Given the description of an element on the screen output the (x, y) to click on. 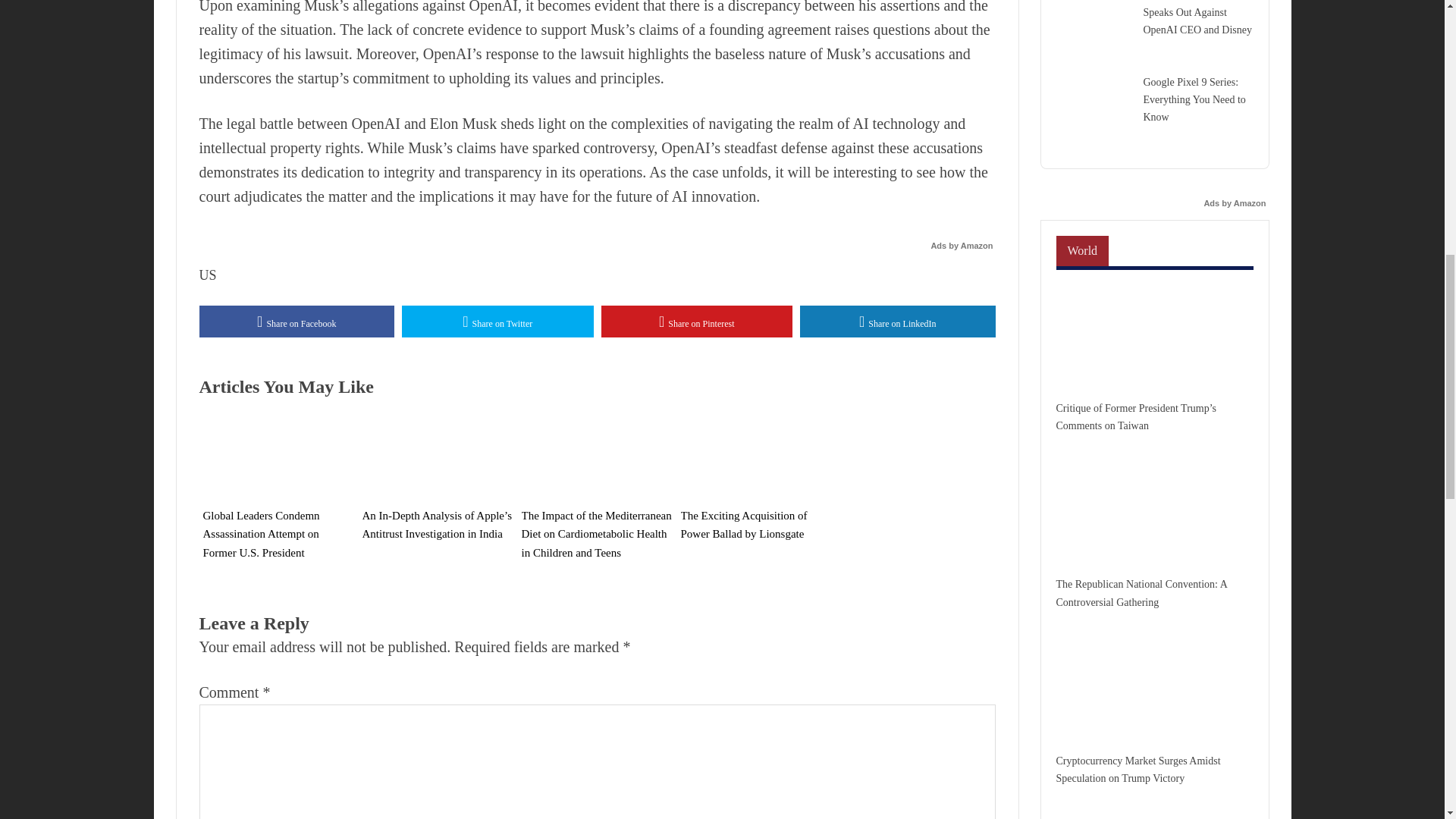
US (206, 274)
